Given the description of an element on the screen output the (x, y) to click on. 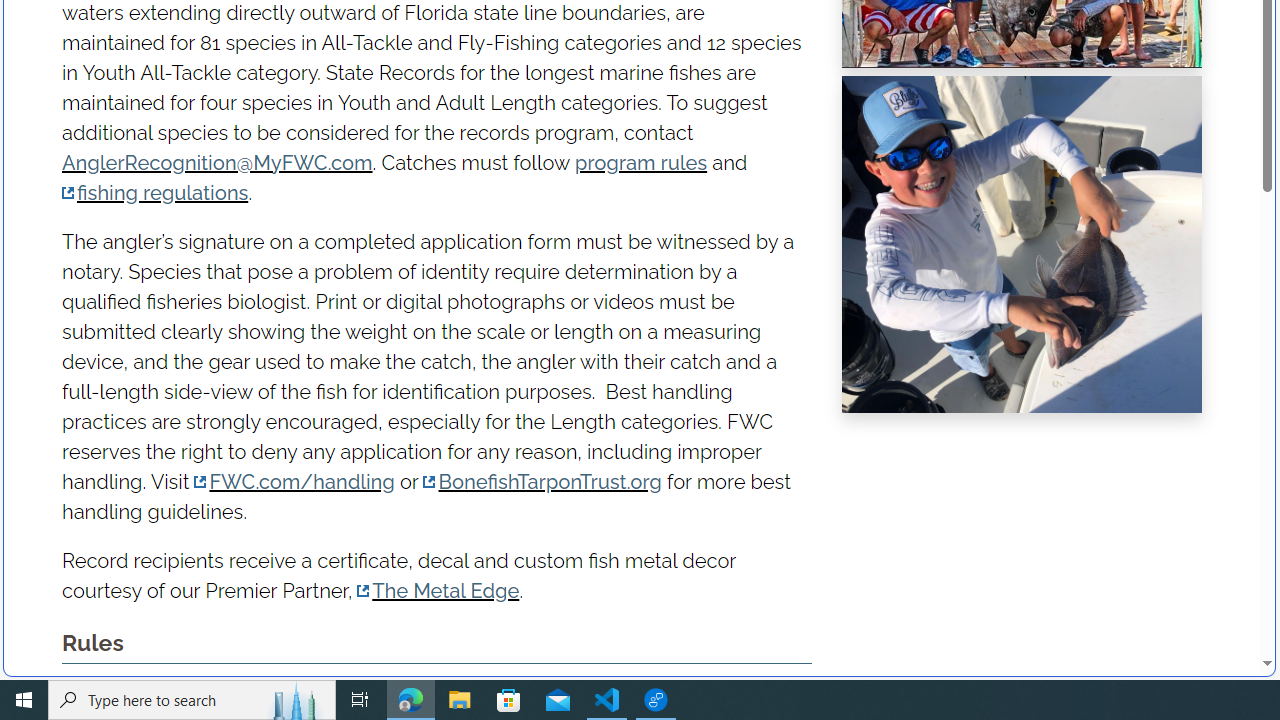
FWC.com/handling (294, 480)
Measuring on boat (1021, 244)
AnglerRecognition@MyFWC.com (216, 161)
The Metal Edge (438, 591)
BonefishTarponTrust.org (541, 480)
program rules (640, 161)
fishing regulations (155, 192)
